Given the description of an element on the screen output the (x, y) to click on. 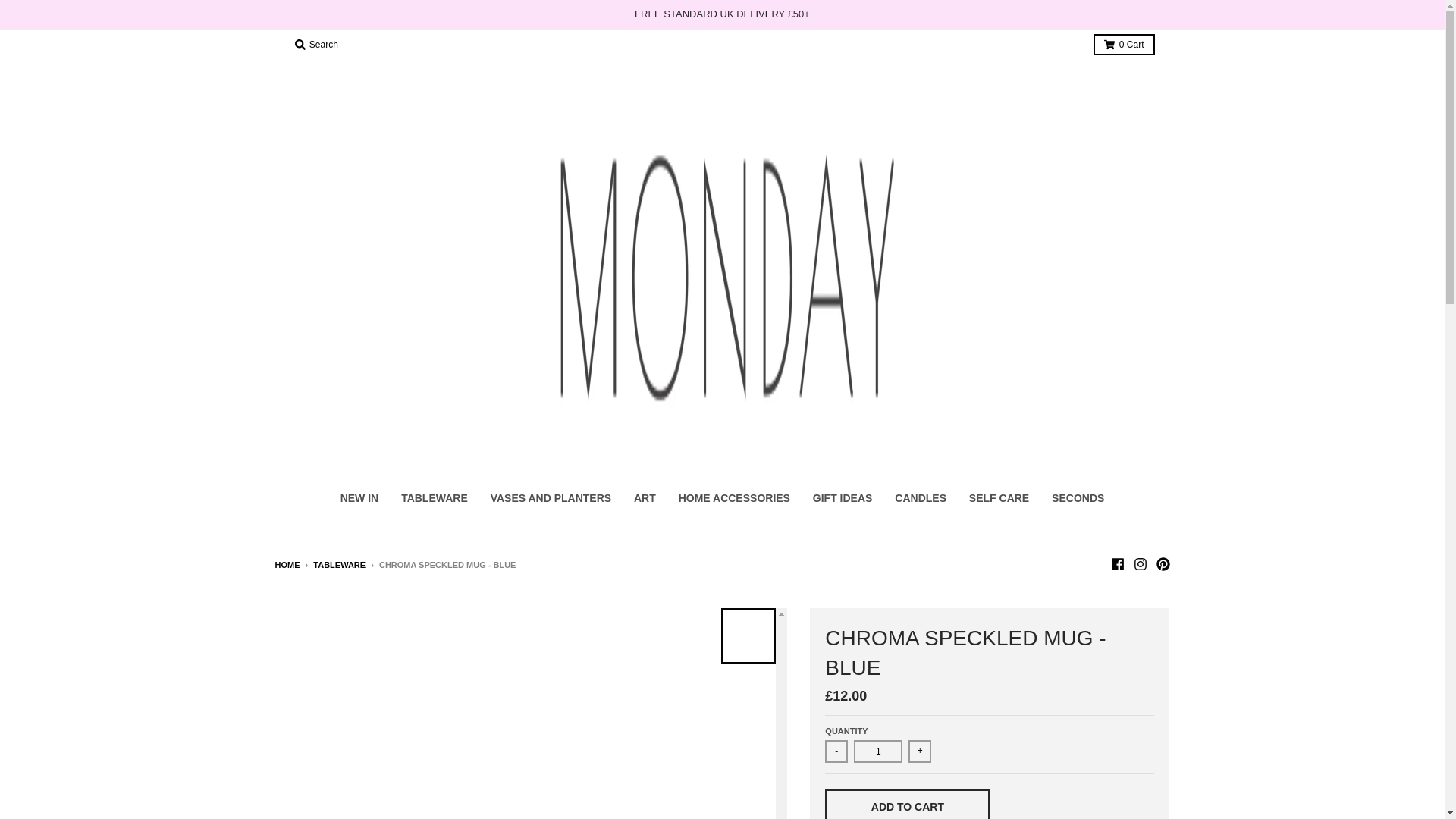
0 Cart (1123, 44)
ART (644, 497)
Back to the frontpage (287, 564)
1 (877, 751)
Search (315, 44)
GIFT IDEAS (842, 497)
Facebook - MONDAY (1116, 563)
SECONDS (1077, 497)
TABLEWARE (434, 497)
TABLEWARE (339, 564)
